Given the description of an element on the screen output the (x, y) to click on. 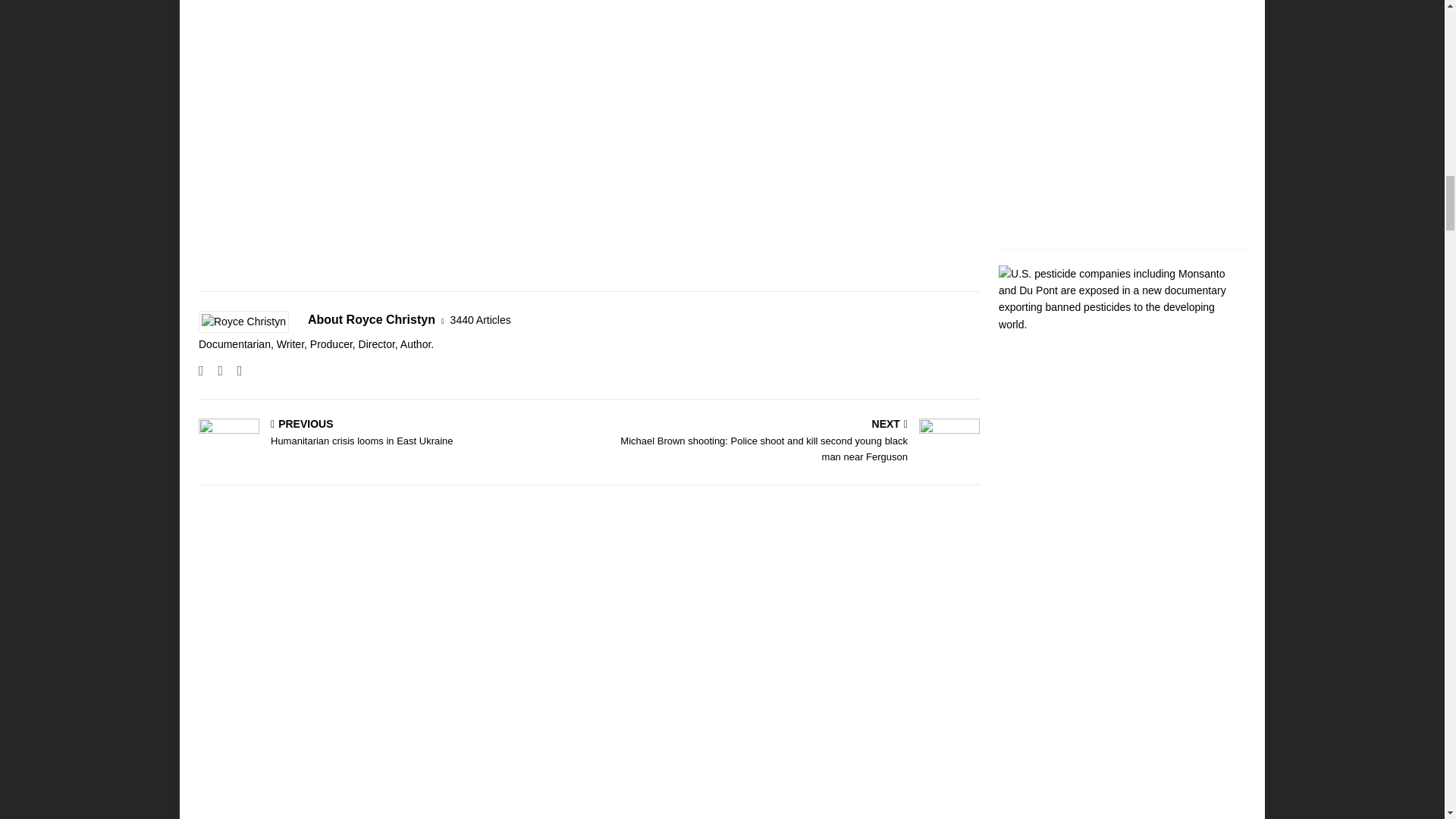
Follow Royce Christyn on Instagram (214, 370)
More articles written by Royce Christyn' (480, 320)
Follow Royce Christyn on Twitter (234, 370)
